Given the description of an element on the screen output the (x, y) to click on. 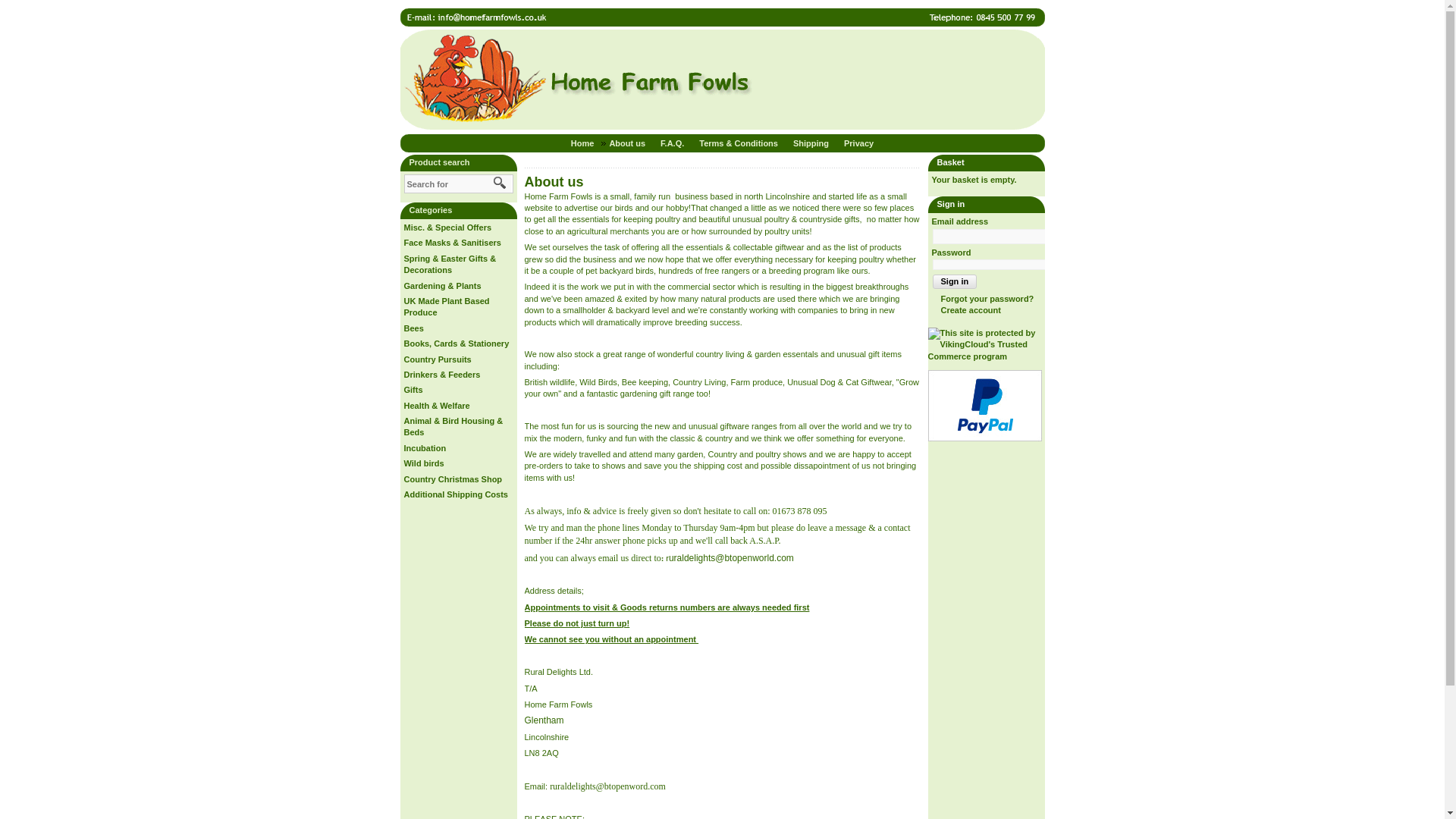
Wild birds (423, 462)
Additional Shipping Costs (455, 493)
Forgot your password? (982, 298)
Incubation (424, 447)
Sign in (954, 281)
UK Made Plant Based Produce (446, 306)
F.A.Q. (676, 142)
Country Christmas Shop (452, 479)
Create account (965, 309)
